Given the description of an element on the screen output the (x, y) to click on. 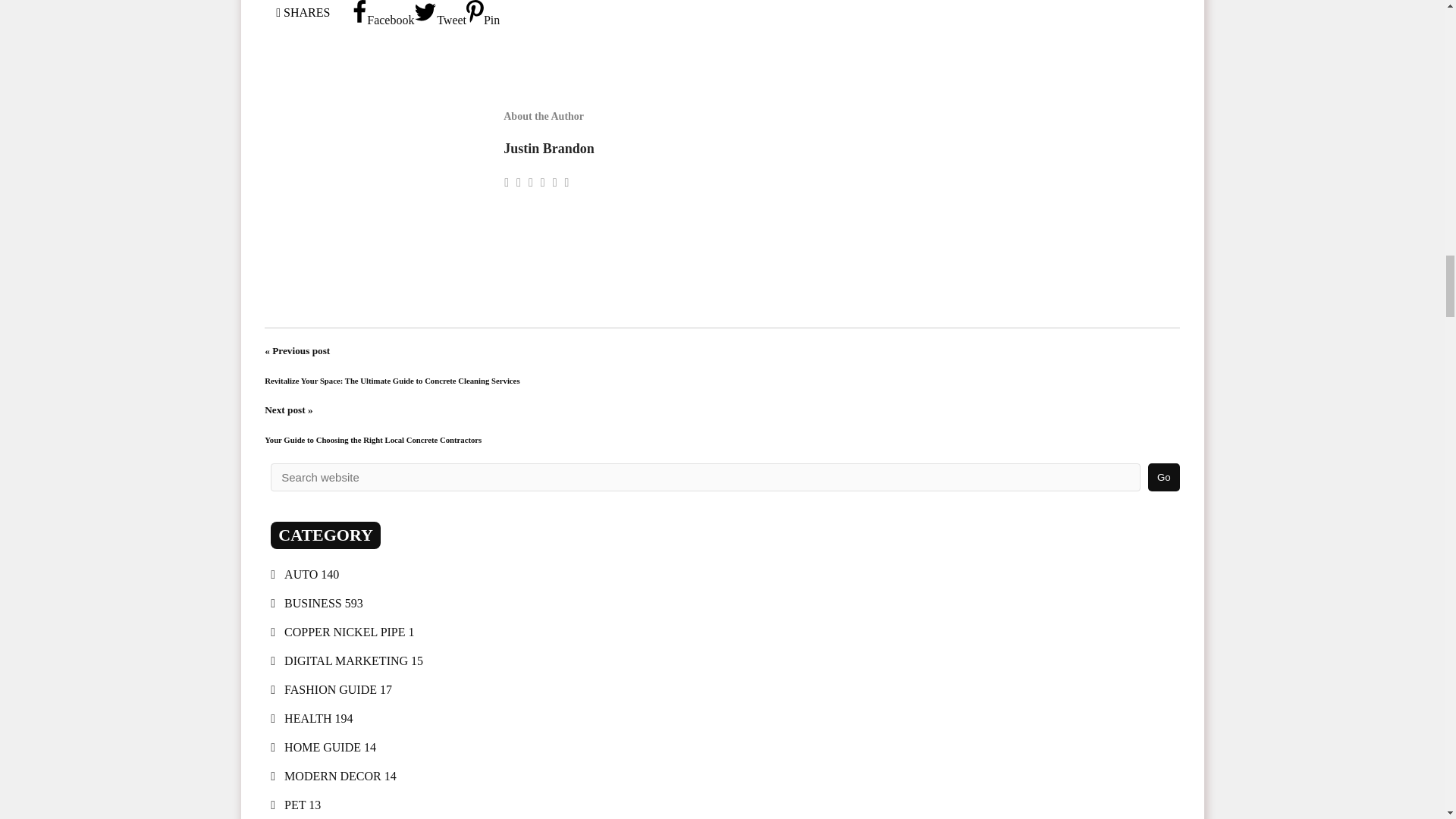
Share on Facebook (382, 19)
Pin (482, 19)
Tweet (439, 19)
Share on Twitter (439, 19)
Facebook (382, 19)
Go (1163, 477)
Share on Pinterest (482, 19)
